Given the description of an element on the screen output the (x, y) to click on. 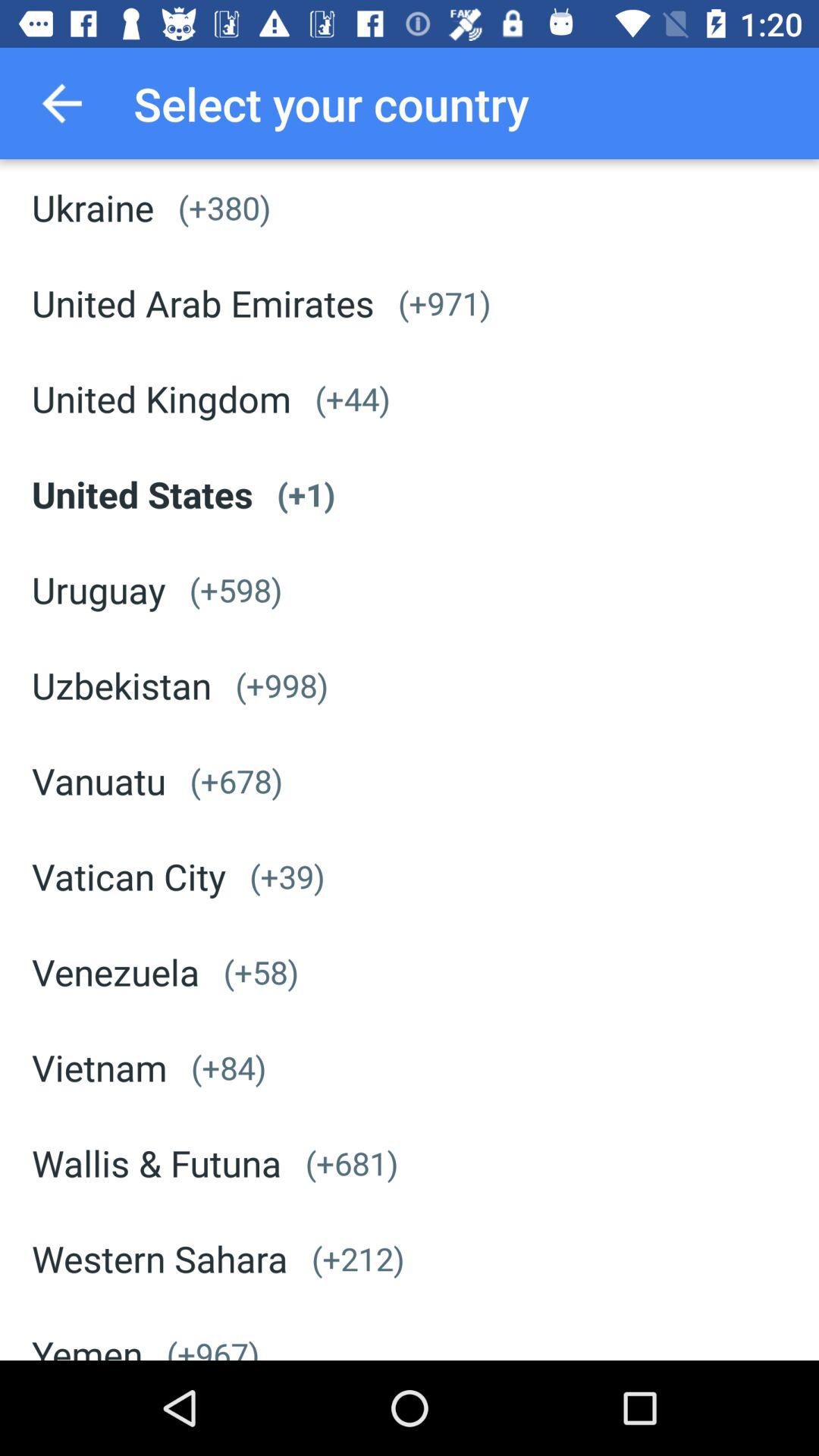
jump until (+39) icon (286, 876)
